Given the description of an element on the screen output the (x, y) to click on. 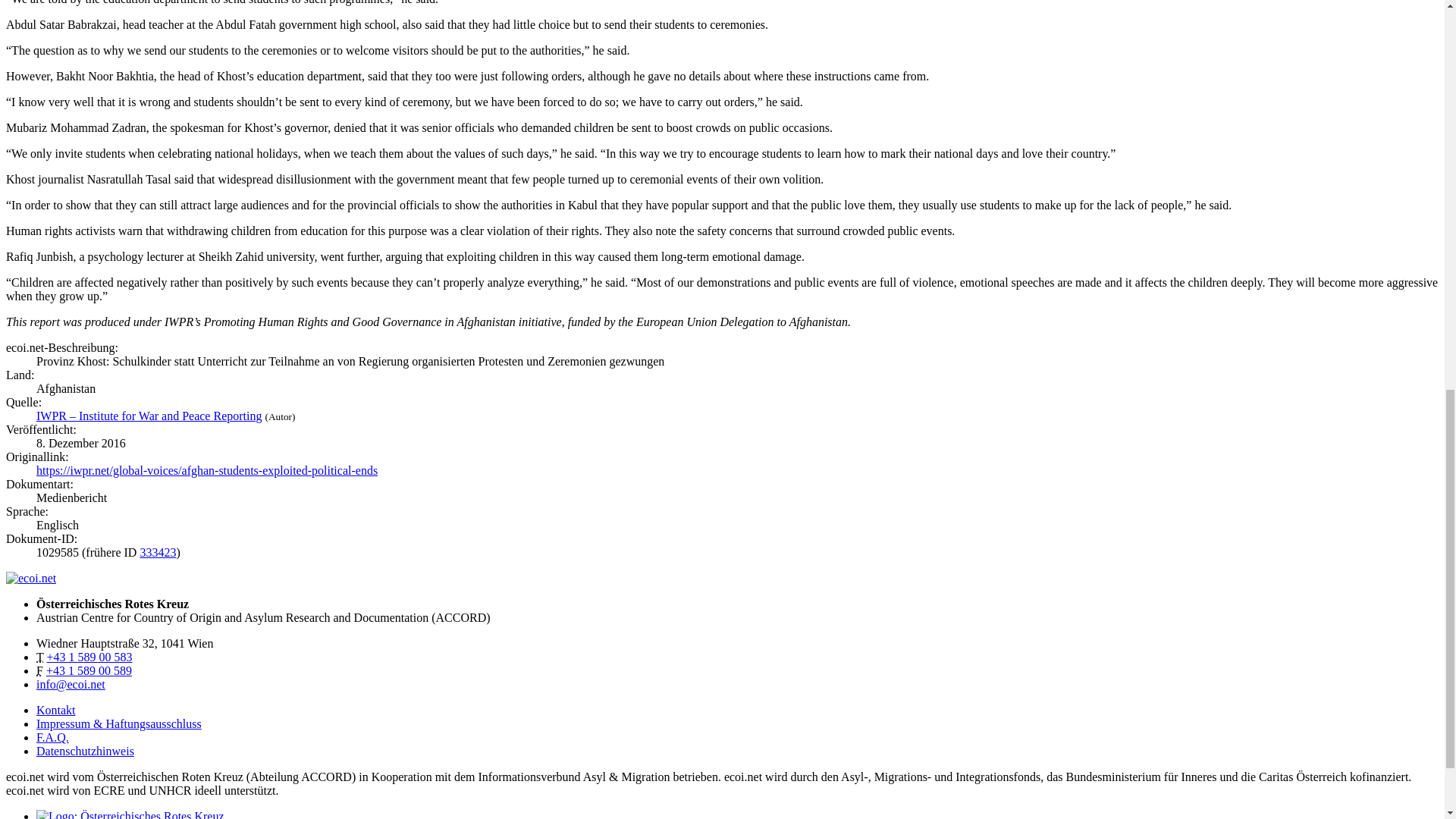
Telefon (89, 656)
Kontakt (55, 709)
Datenschutzhinweis (84, 750)
Quellenbeschreibung lesen (149, 415)
333423 (157, 552)
Fax (89, 670)
F.A.Q. (52, 737)
